Given the description of an element on the screen output the (x, y) to click on. 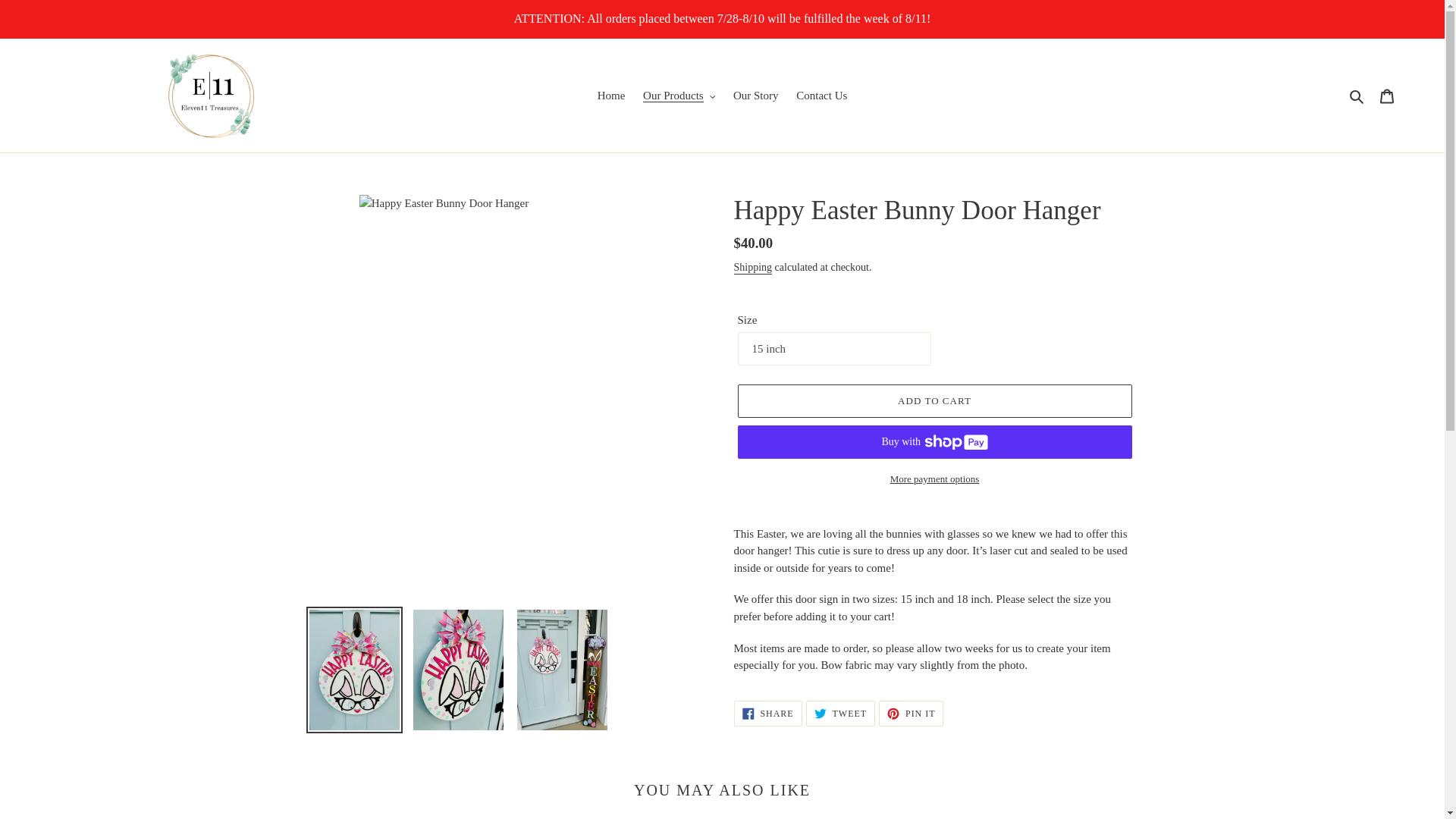
Our Products (678, 96)
Home (611, 96)
